Given the description of an element on the screen output the (x, y) to click on. 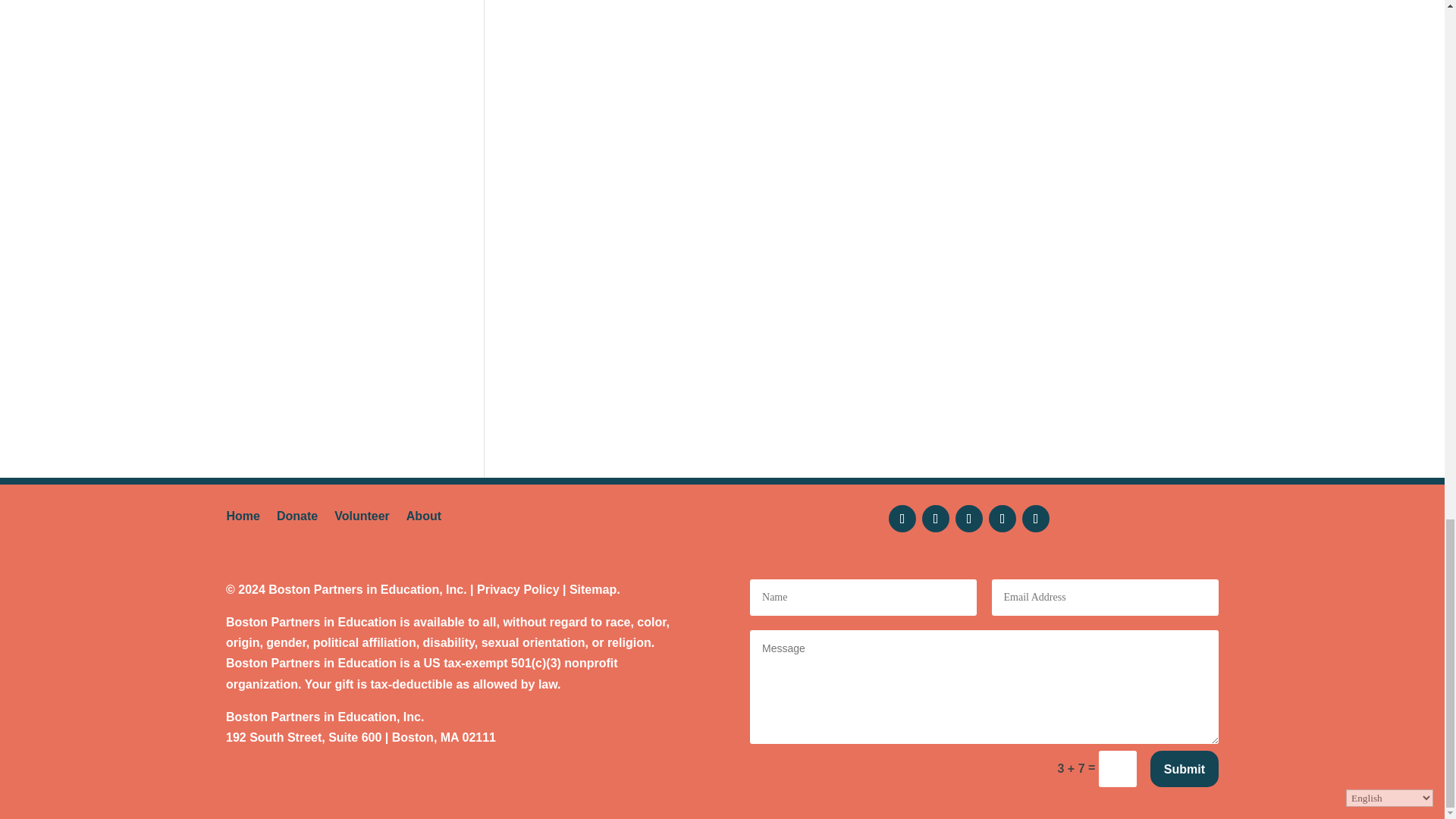
Follow on X (935, 518)
Follow on Youtube (1002, 518)
Follow on Facebook (901, 518)
Follow on Instagram (968, 518)
Follow on LinkedIn (1035, 518)
